Given the description of an element on the screen output the (x, y) to click on. 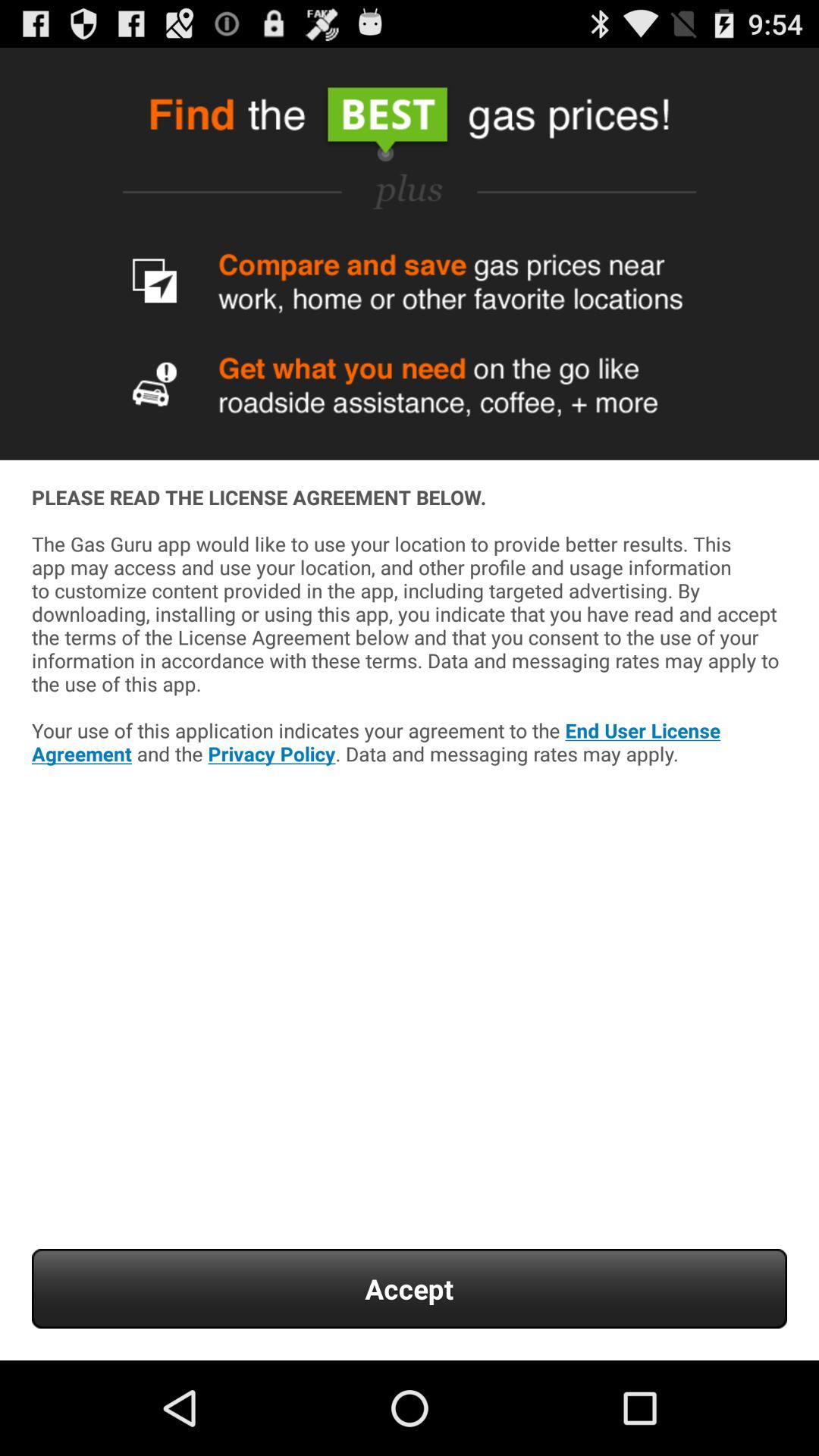
flip to the please read the (409, 669)
